Given the description of an element on the screen output the (x, y) to click on. 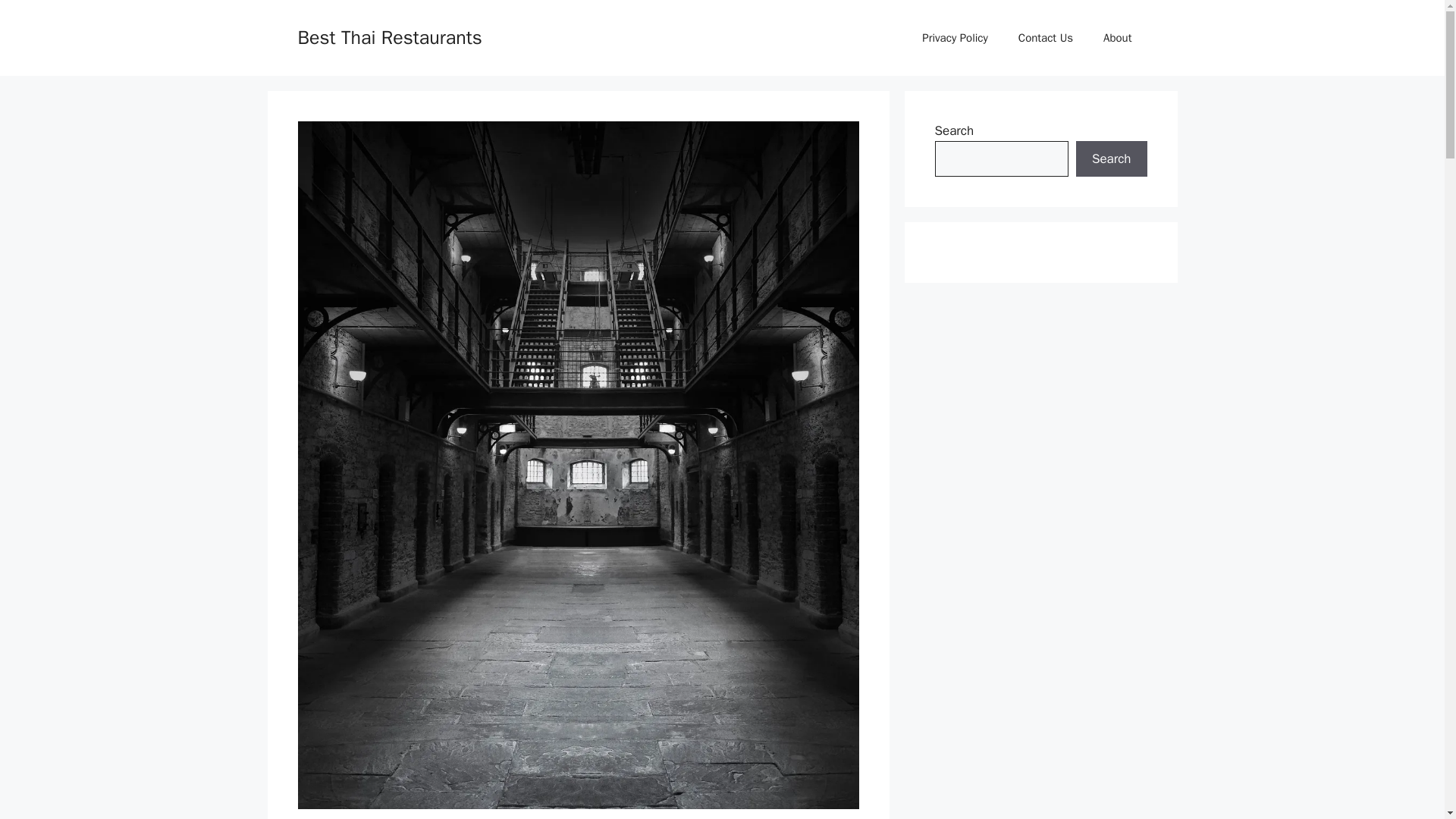
Search (1111, 158)
About (1117, 37)
Contact Us (1045, 37)
Privacy Policy (955, 37)
Best Thai Restaurants (389, 37)
